Given the description of an element on the screen output the (x, y) to click on. 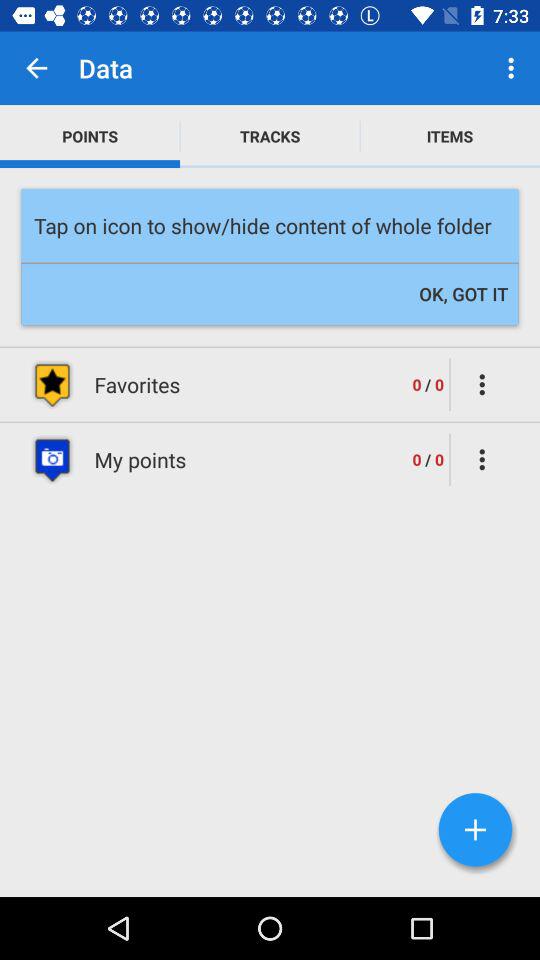
jump to the ok, got it (463, 293)
